Given the description of an element on the screen output the (x, y) to click on. 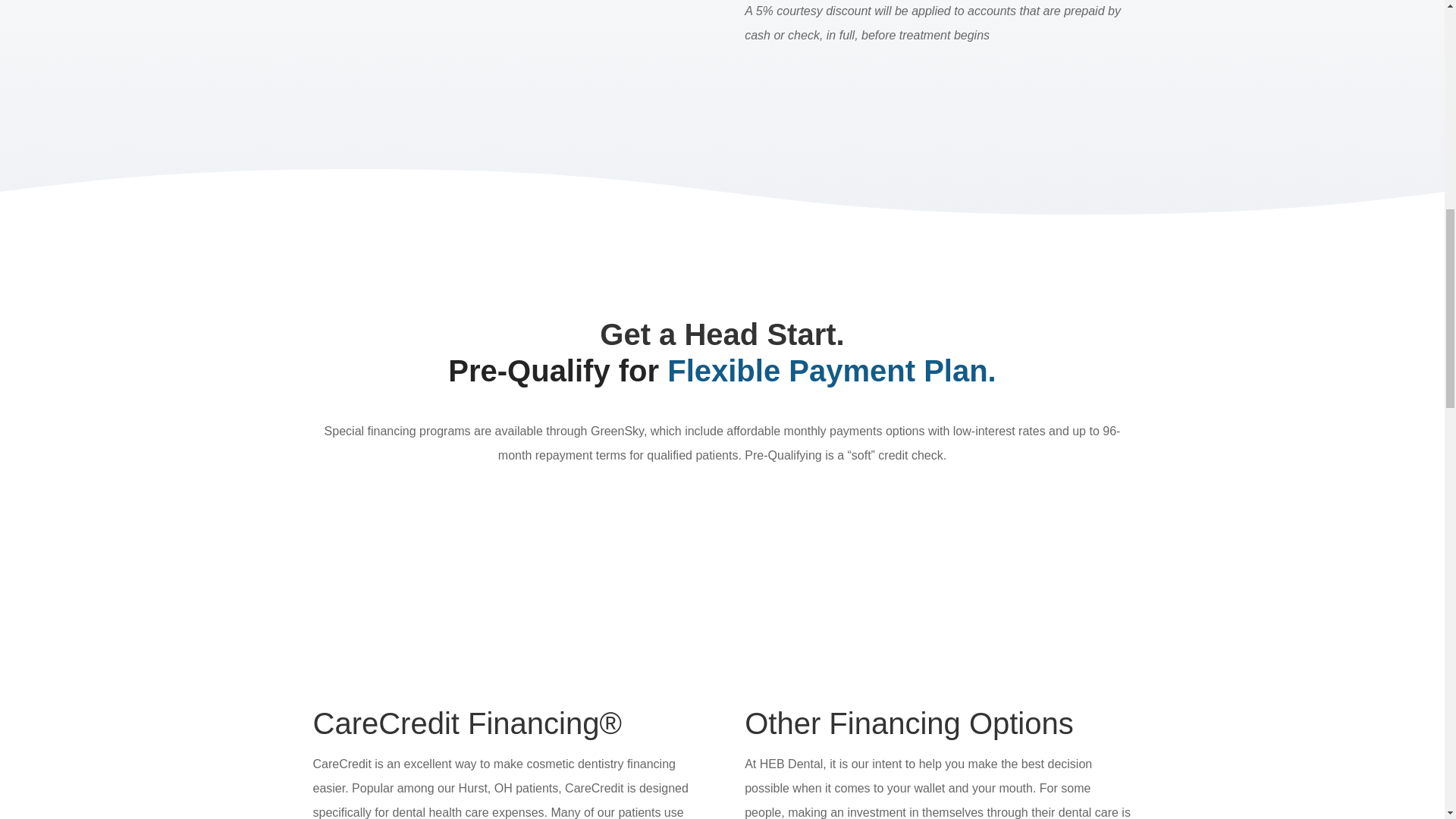
Payment (505, 71)
